Given the description of an element on the screen output the (x, y) to click on. 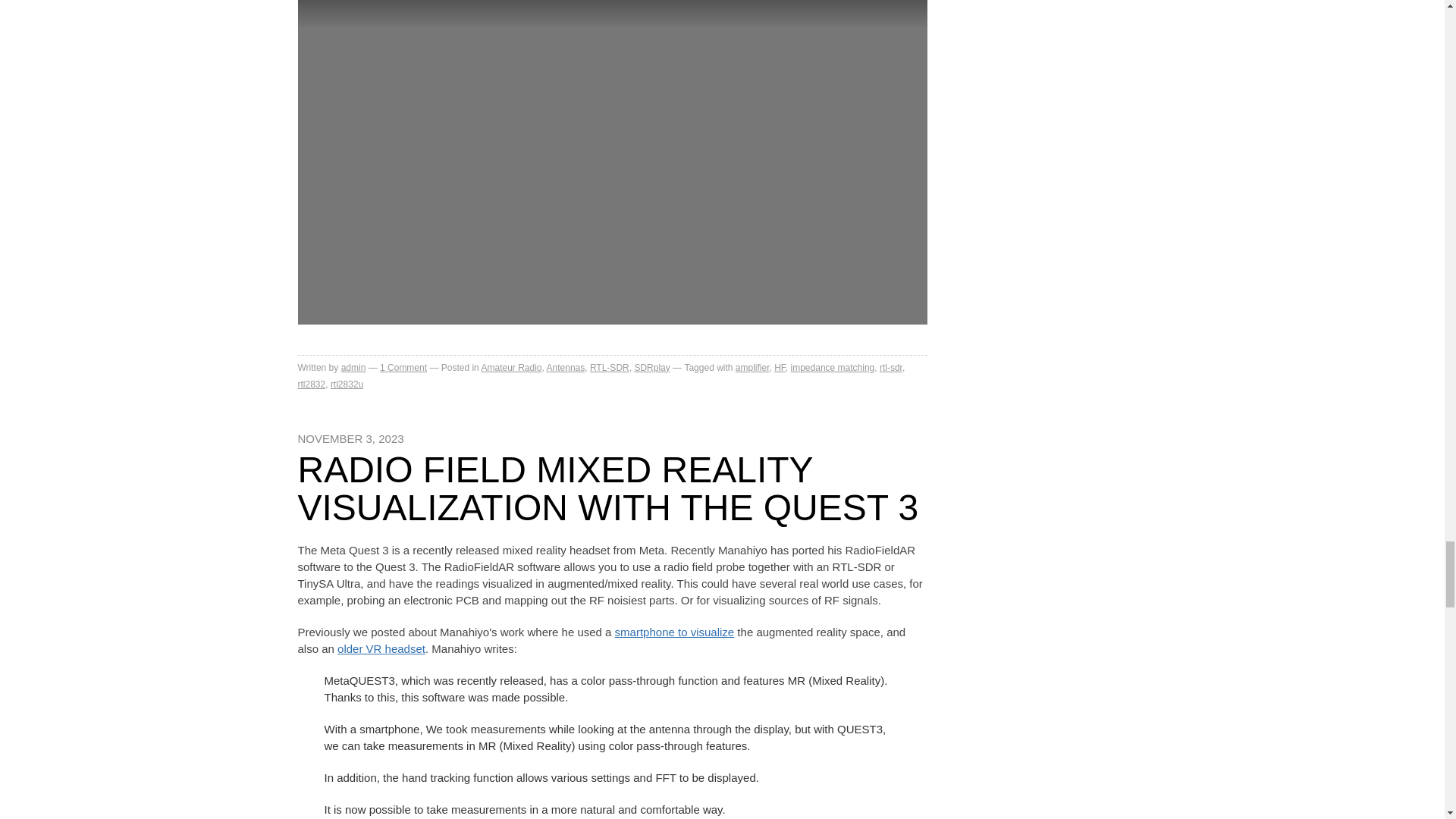
Posts by admin (353, 367)
